Given the description of an element on the screen output the (x, y) to click on. 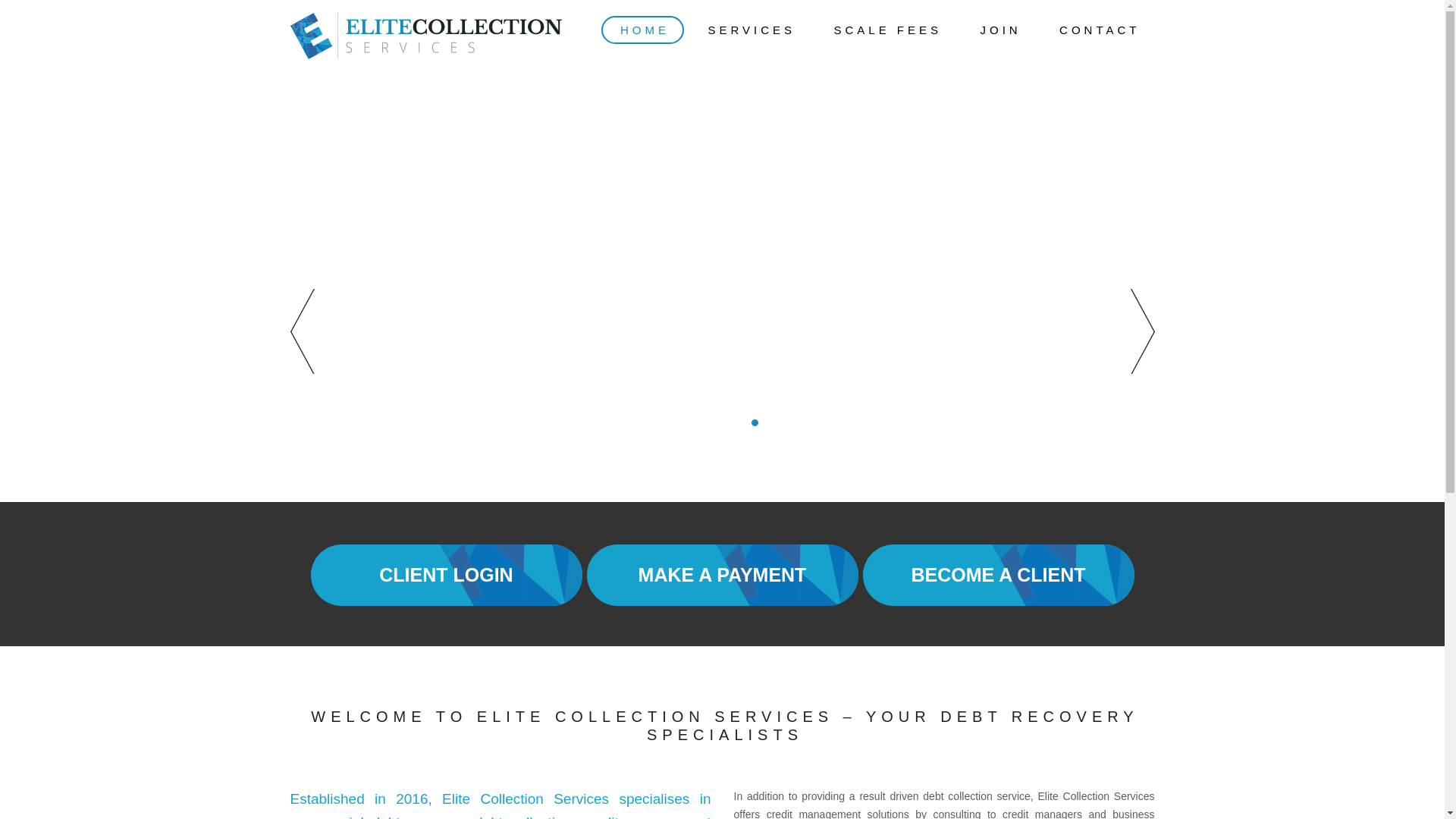
CLIENT LOGIN Element type: text (446, 574)
2 Element type: text (702, 422)
LEARN MORE Element type: text (723, 389)
SCALE FEES Element type: text (885, 29)
HOME Element type: text (642, 29)
4 Element type: text (727, 422)
1 Element type: text (690, 422)
MAKE A PAYMENT Element type: text (722, 574)
6 Element type: text (753, 422)
JOIN Element type: text (997, 29)
3 Element type: text (715, 422)
5 Element type: text (741, 422)
SERVICES Element type: text (748, 29)
CONTACT Element type: text (1097, 29)
BECOME A CLIENT Element type: text (998, 574)
